Given the description of an element on the screen output the (x, y) to click on. 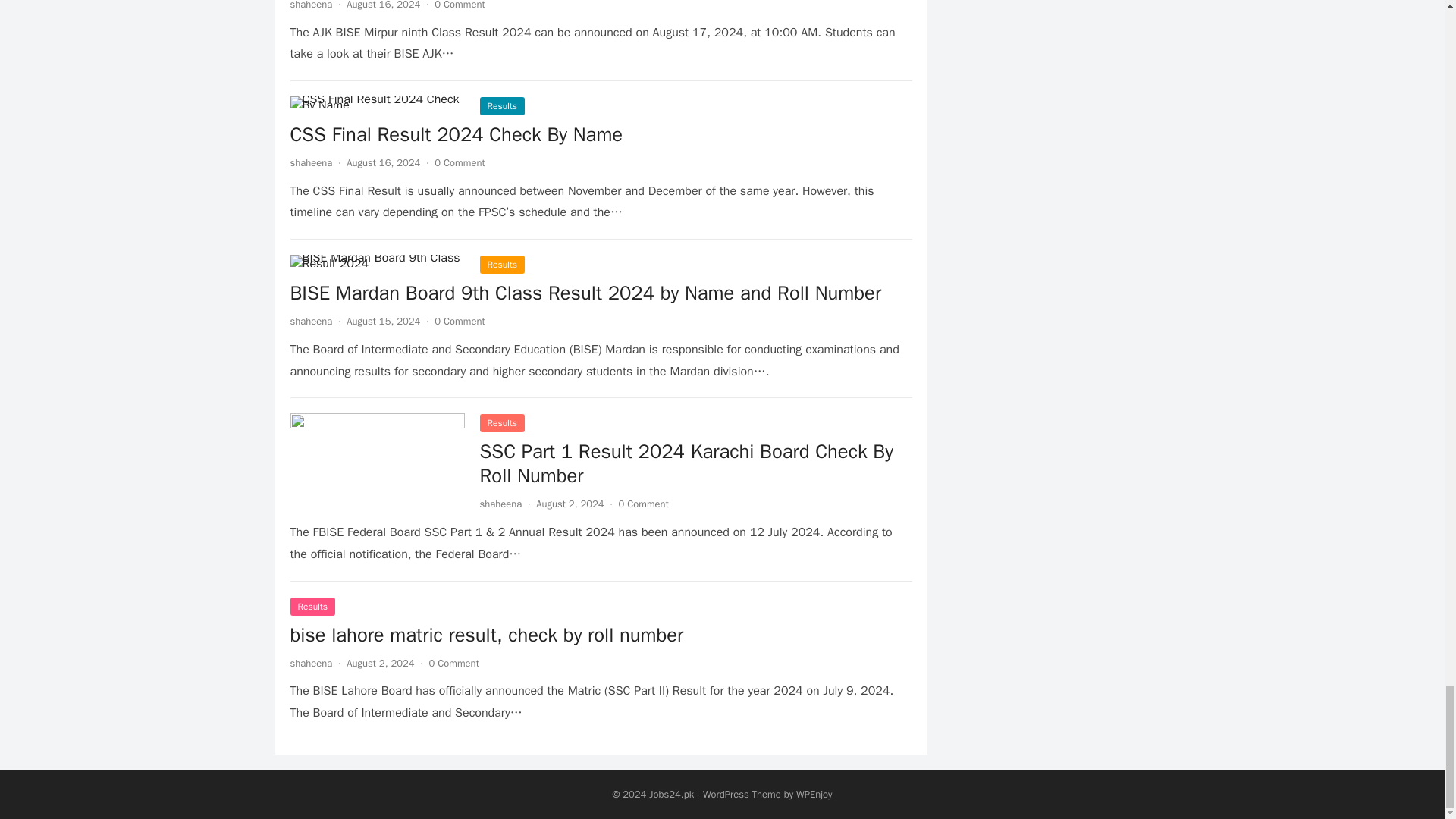
shaheena (310, 5)
Posts by shaheena (310, 162)
0 Comment (458, 5)
Posts by shaheena (310, 320)
Posts by shaheena (310, 662)
Posts by shaheena (310, 5)
Posts by shaheena (500, 503)
